Given the description of an element on the screen output the (x, y) to click on. 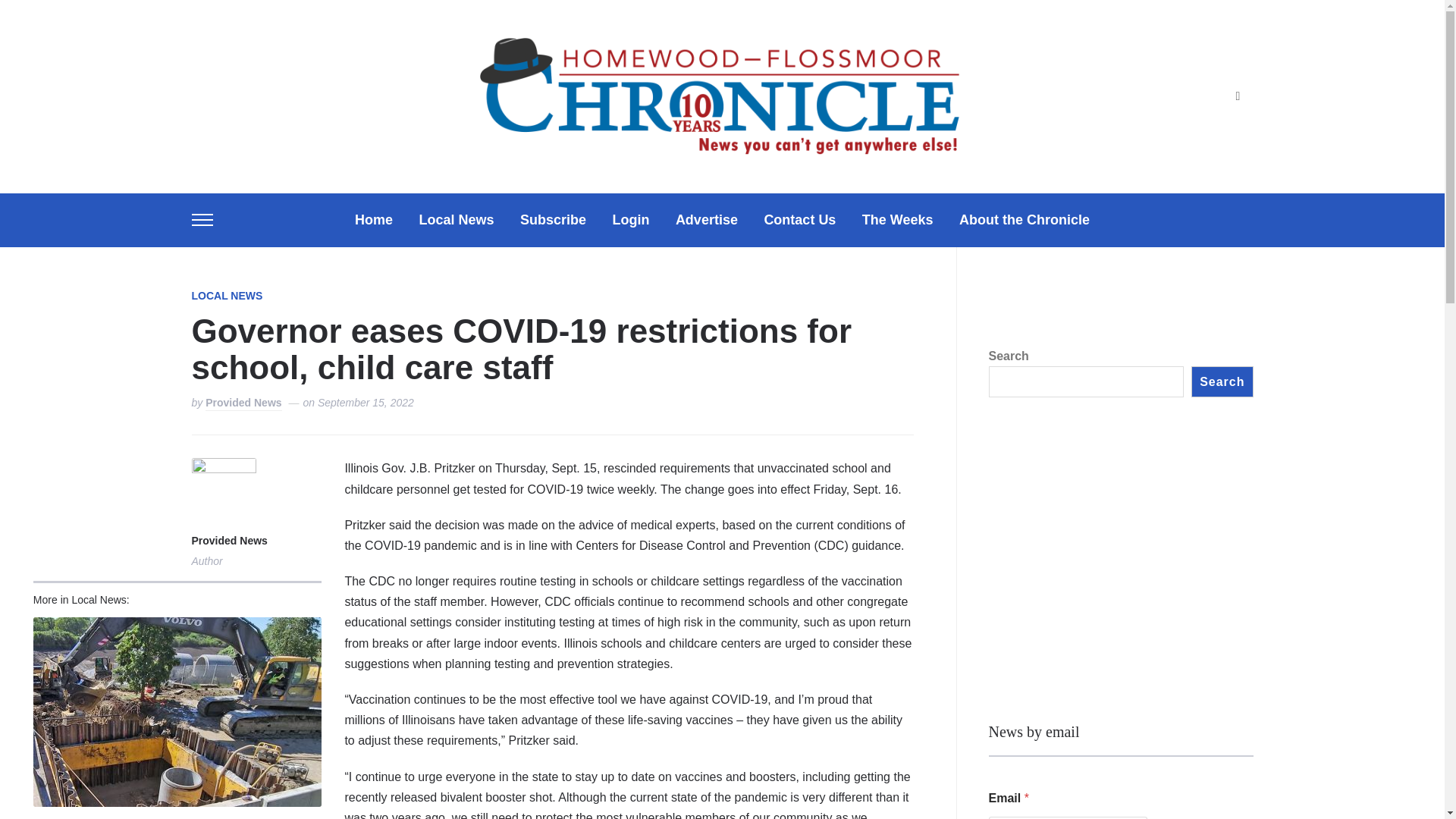
Provided News (228, 541)
Advertise (706, 219)
Posts by Provided News (243, 403)
Contact Us (798, 219)
About the Chronicle (1024, 219)
Subscribe (552, 219)
LOCAL NEWS (226, 296)
Local News (456, 219)
